Given the description of an element on the screen output the (x, y) to click on. 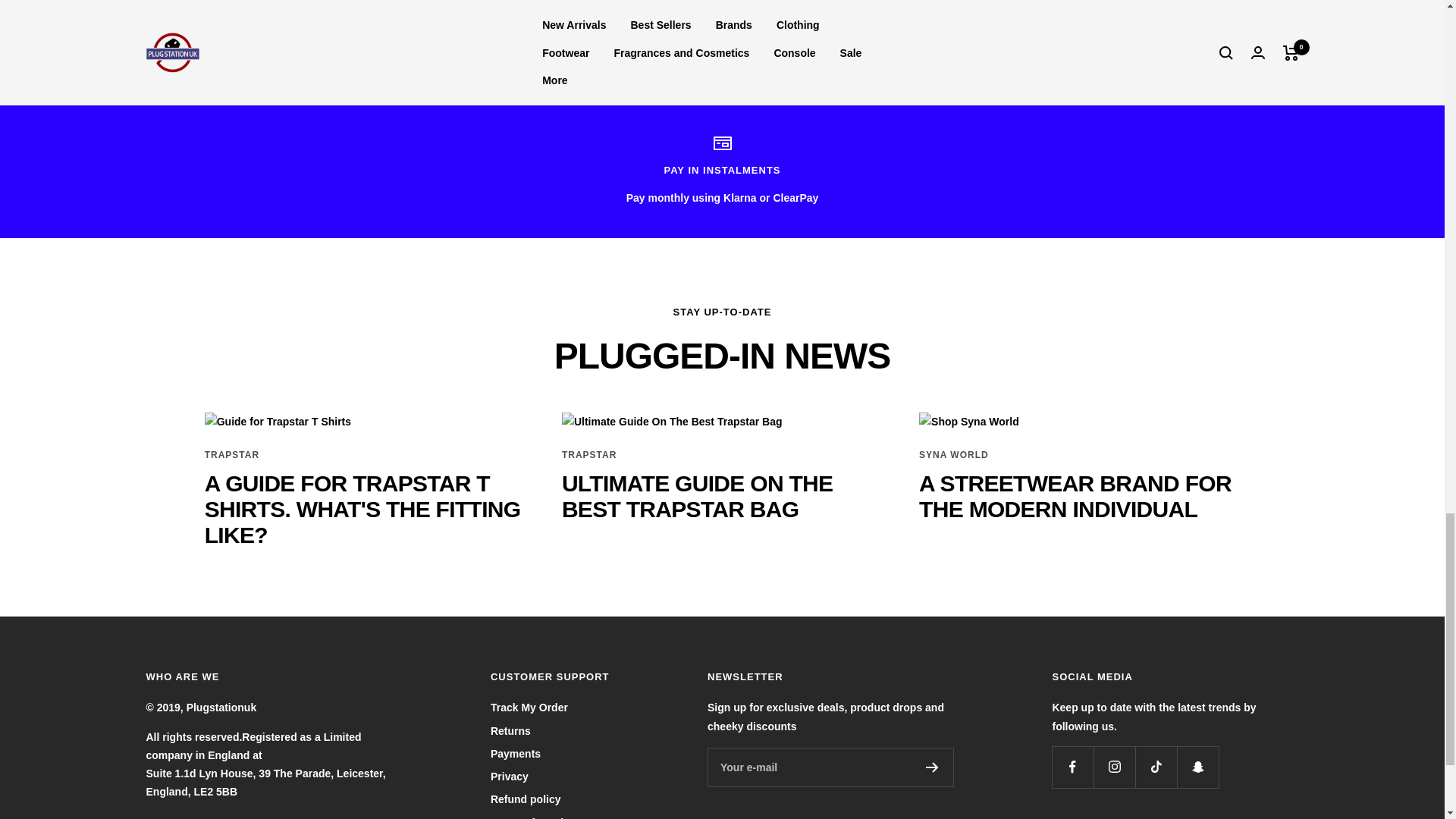
Register (932, 767)
